Given the description of an element on the screen output the (x, y) to click on. 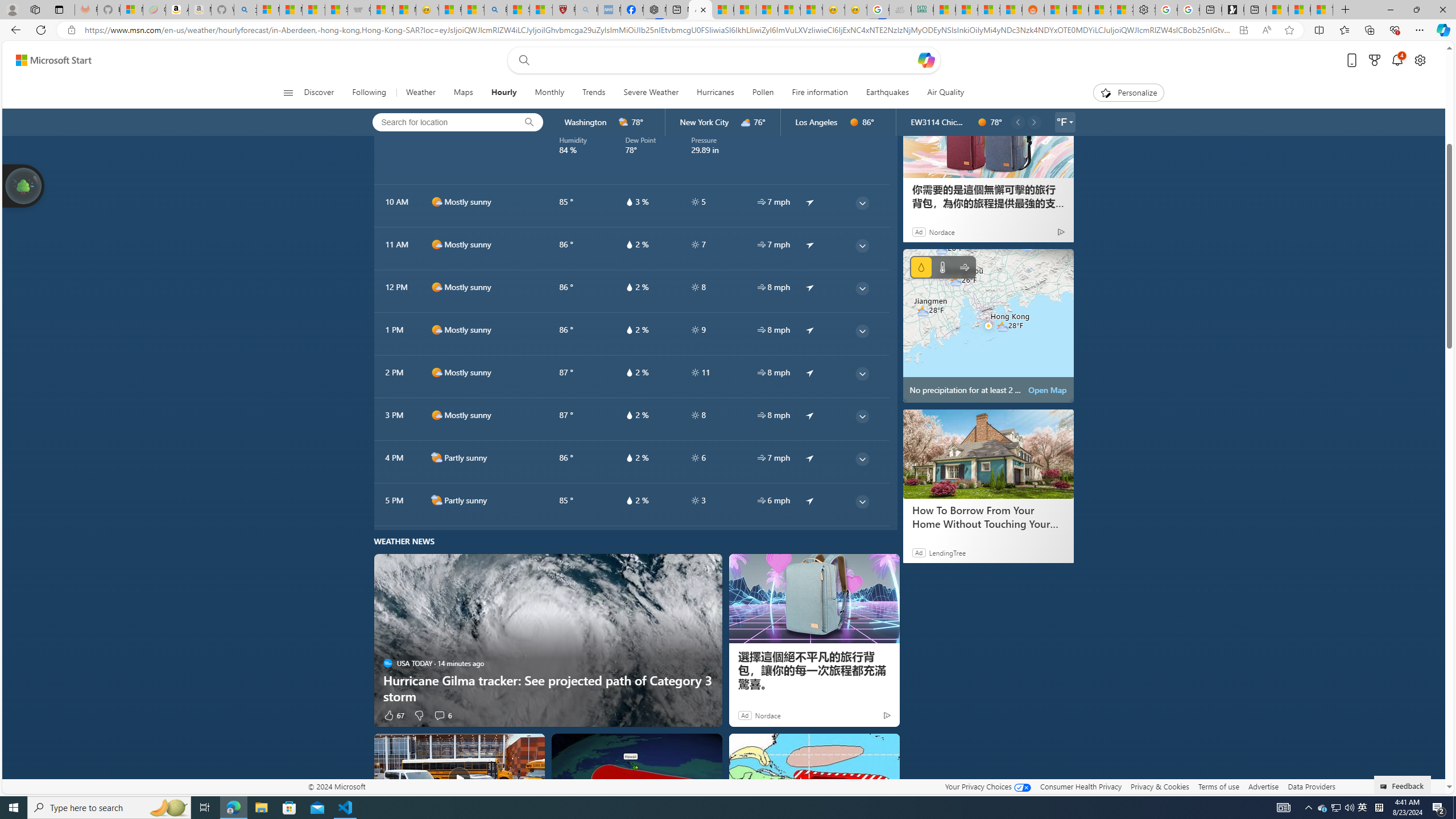
Fitness - MSN (767, 9)
Earthquakes (887, 92)
common/carouselChevron (1033, 122)
Class: miniMapRadarSVGView-DS-EntryPoint1-1 (988, 325)
d3000 (746, 121)
